Given the description of an element on the screen output the (x, y) to click on. 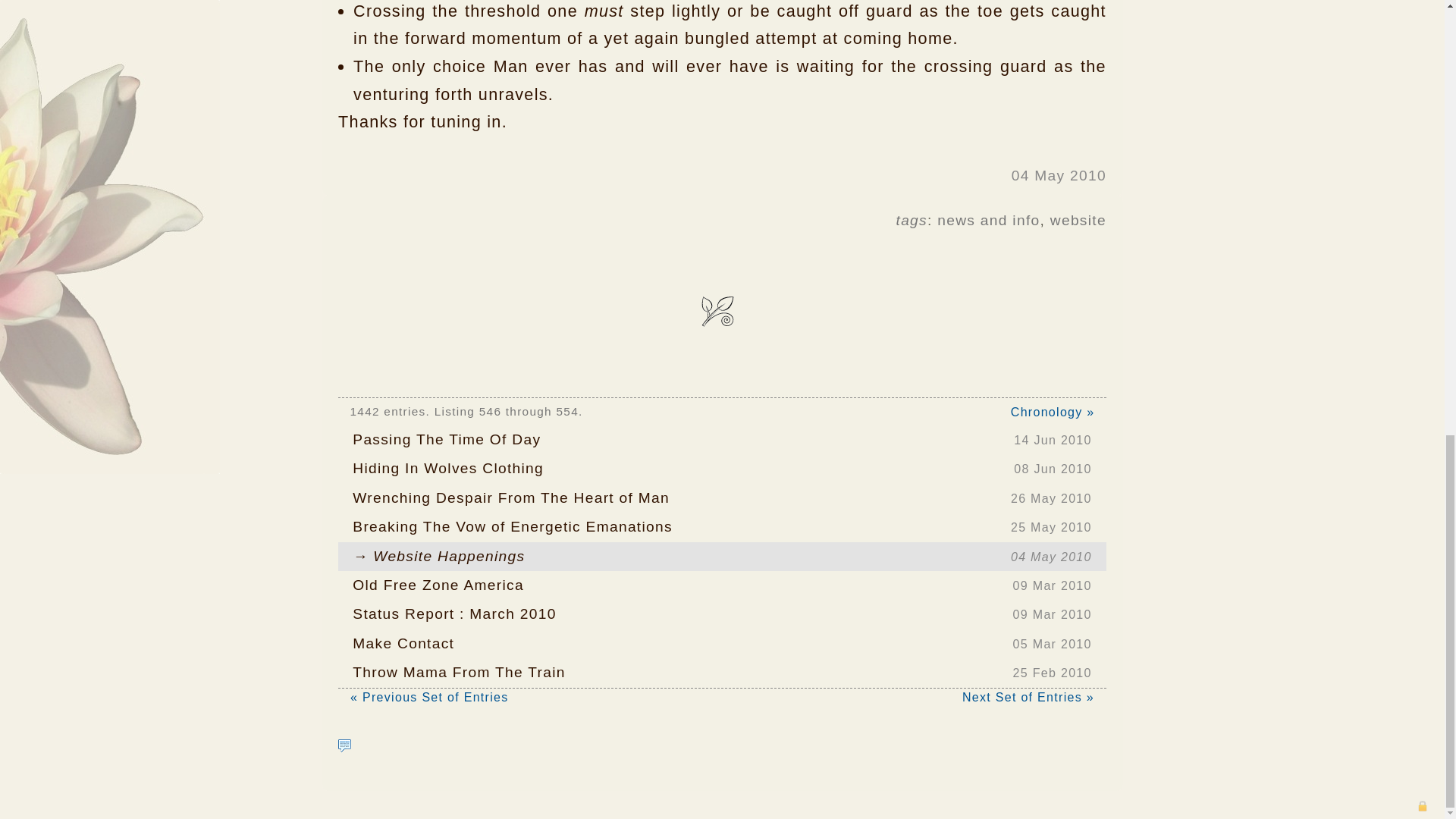
Random quote (721, 439)
tags (343, 744)
website (721, 614)
news and info (721, 526)
